Given the description of an element on the screen output the (x, y) to click on. 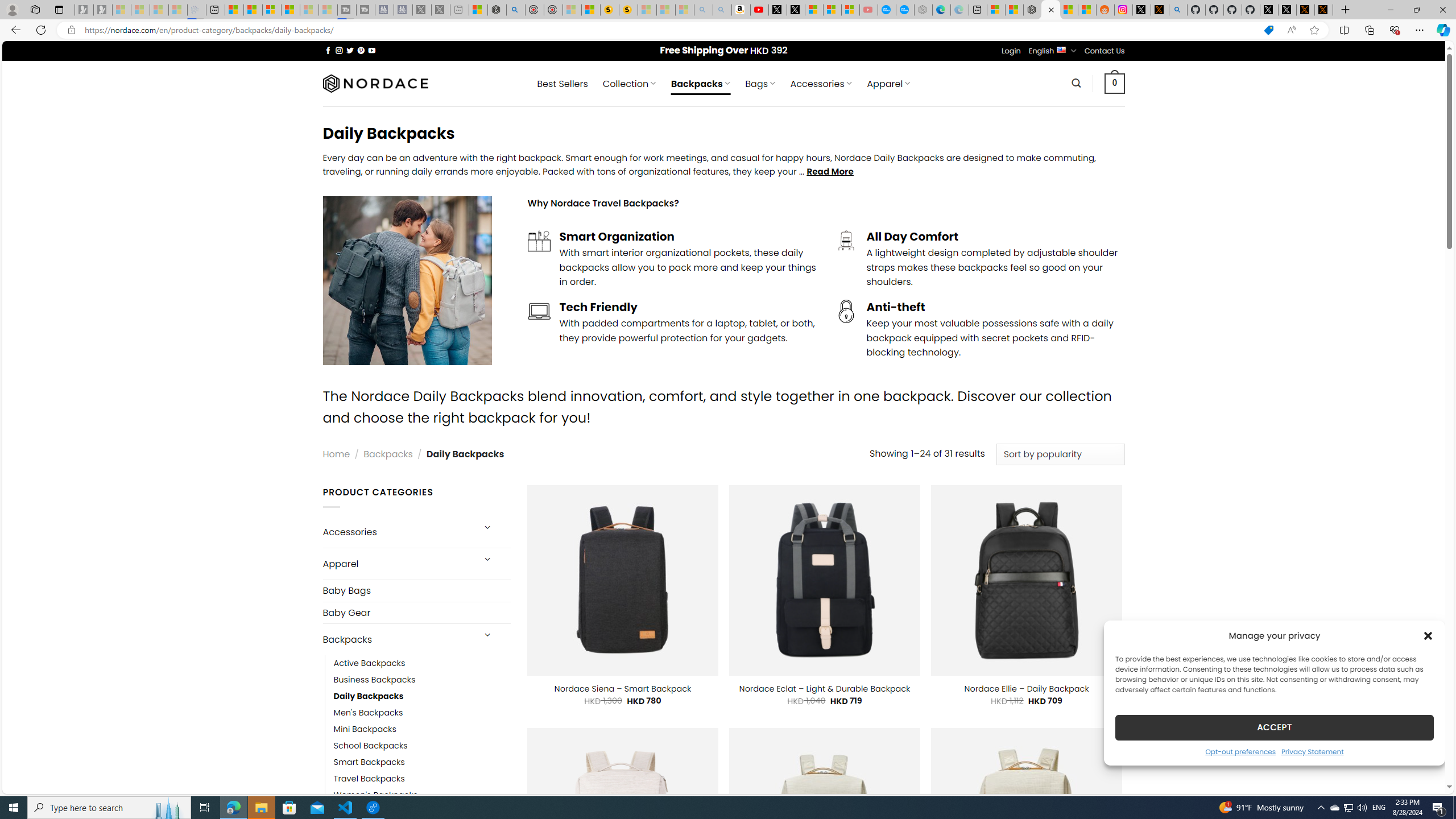
Opinion: Op-Ed and Commentary - USA TODAY (887, 9)
github - Search (1178, 9)
Shop order (1060, 454)
Daily Backpacks (422, 696)
Travel Backpacks (422, 778)
Nordace - Best Sellers (1032, 9)
Active Backpacks (422, 663)
